Given the description of an element on the screen output the (x, y) to click on. 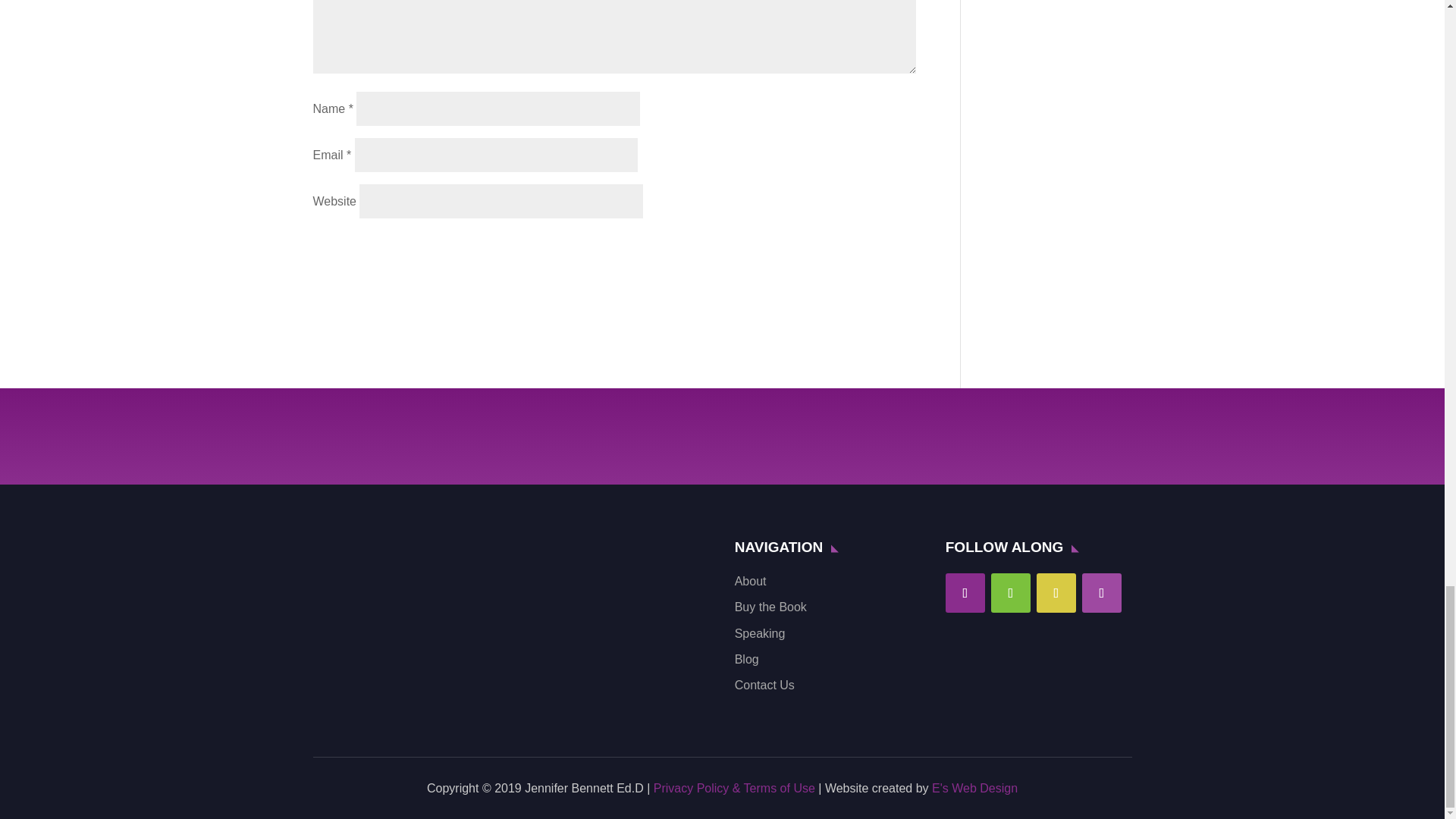
Submit Comment (840, 249)
Follow on Twitter (1010, 592)
Follow on Instagram (1055, 592)
Submit Comment (840, 249)
Follow on LinkedIn (1101, 592)
Follow on Facebook (964, 592)
